Given the description of an element on the screen output the (x, y) to click on. 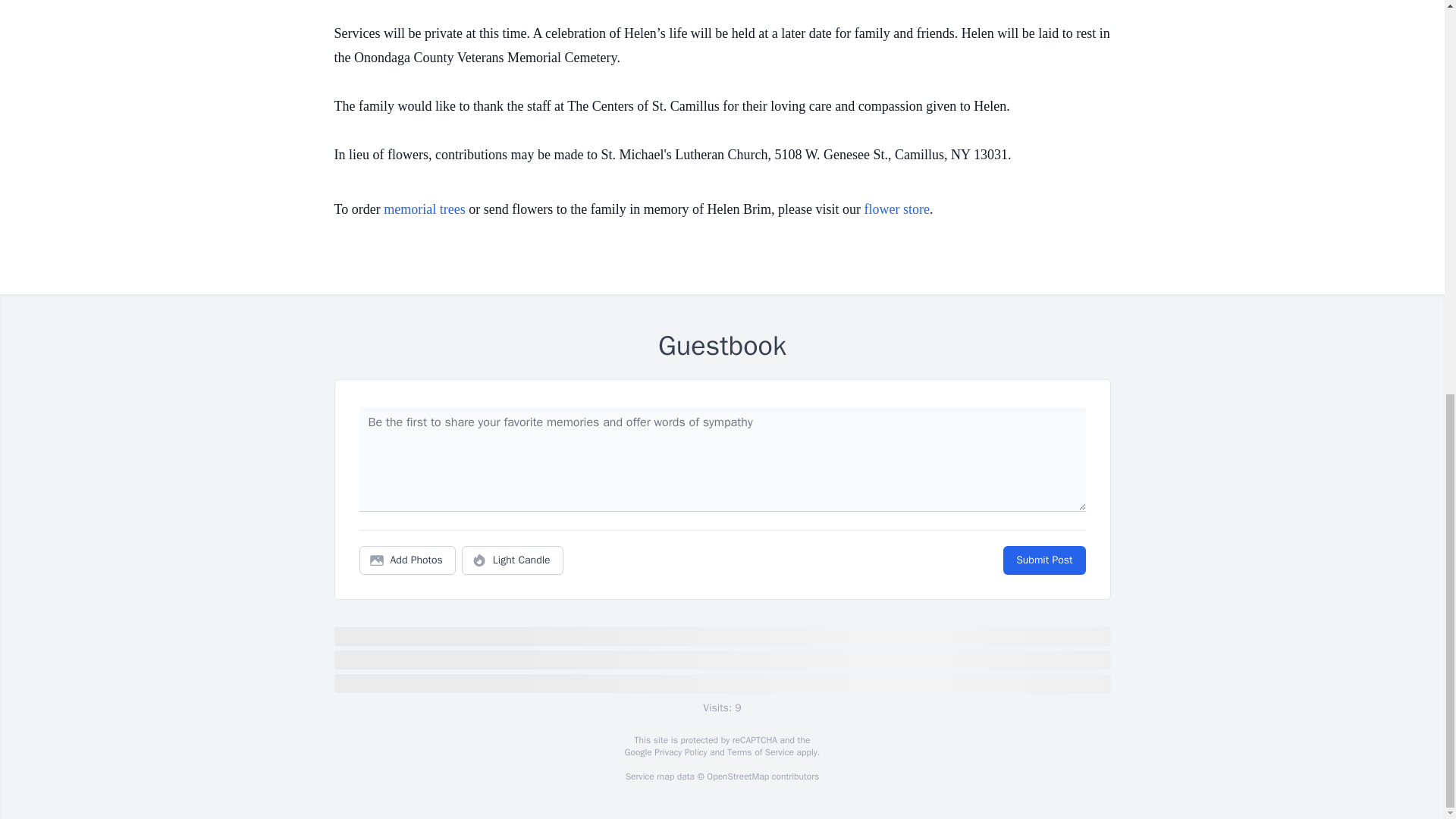
Privacy Policy (679, 752)
Light Candle (512, 560)
Add Photos (407, 560)
OpenStreetMap (737, 776)
Terms of Service (759, 752)
flower store (897, 209)
memorial trees (424, 209)
Submit Post (1043, 560)
